Given the description of an element on the screen output the (x, y) to click on. 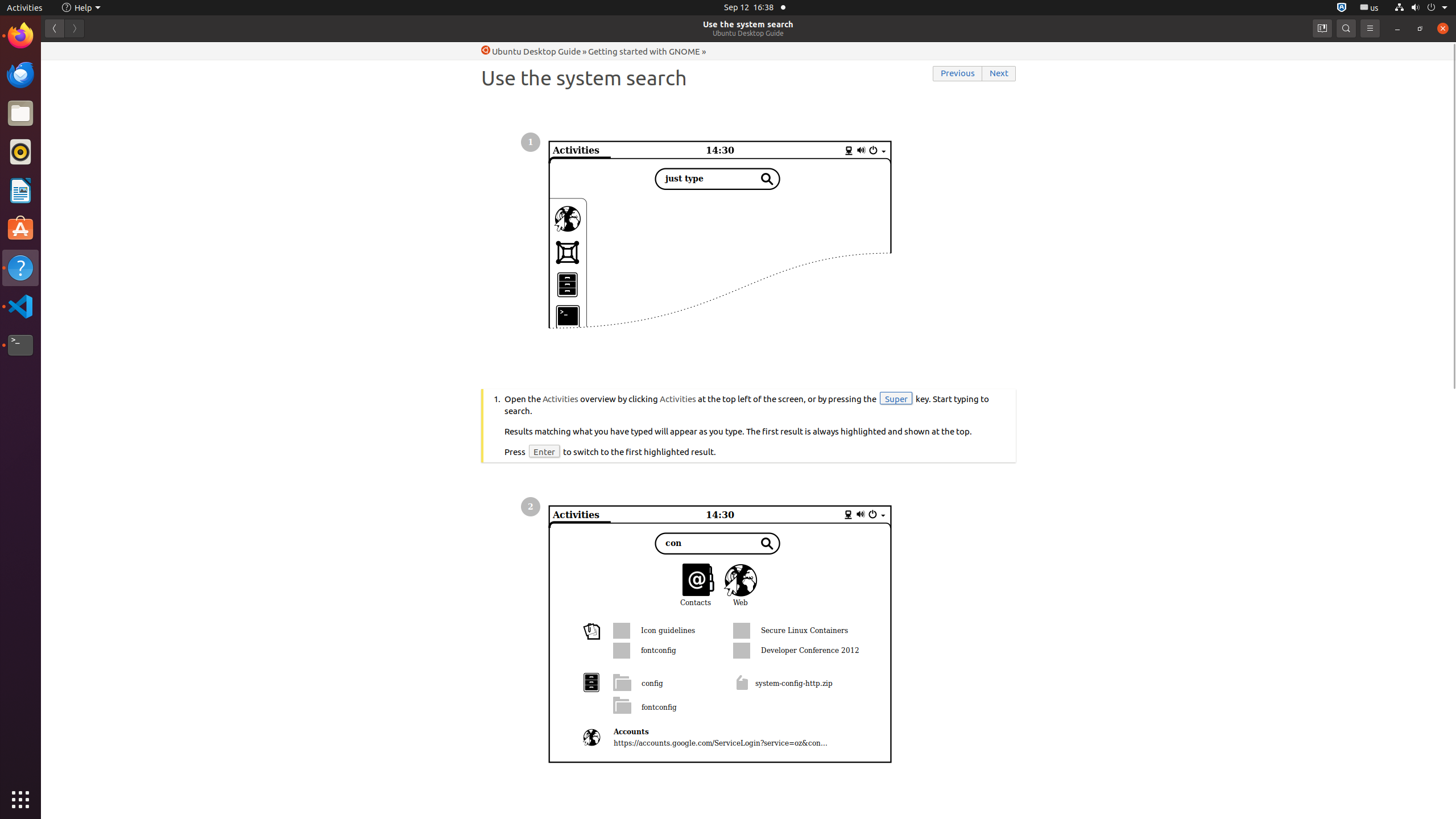
Ubuntu Desktop Guide Element type: label (748, 33)
Activities Element type: label (24, 7)
Previous Element type: link (957, 73)
